Given the description of an element on the screen output the (x, y) to click on. 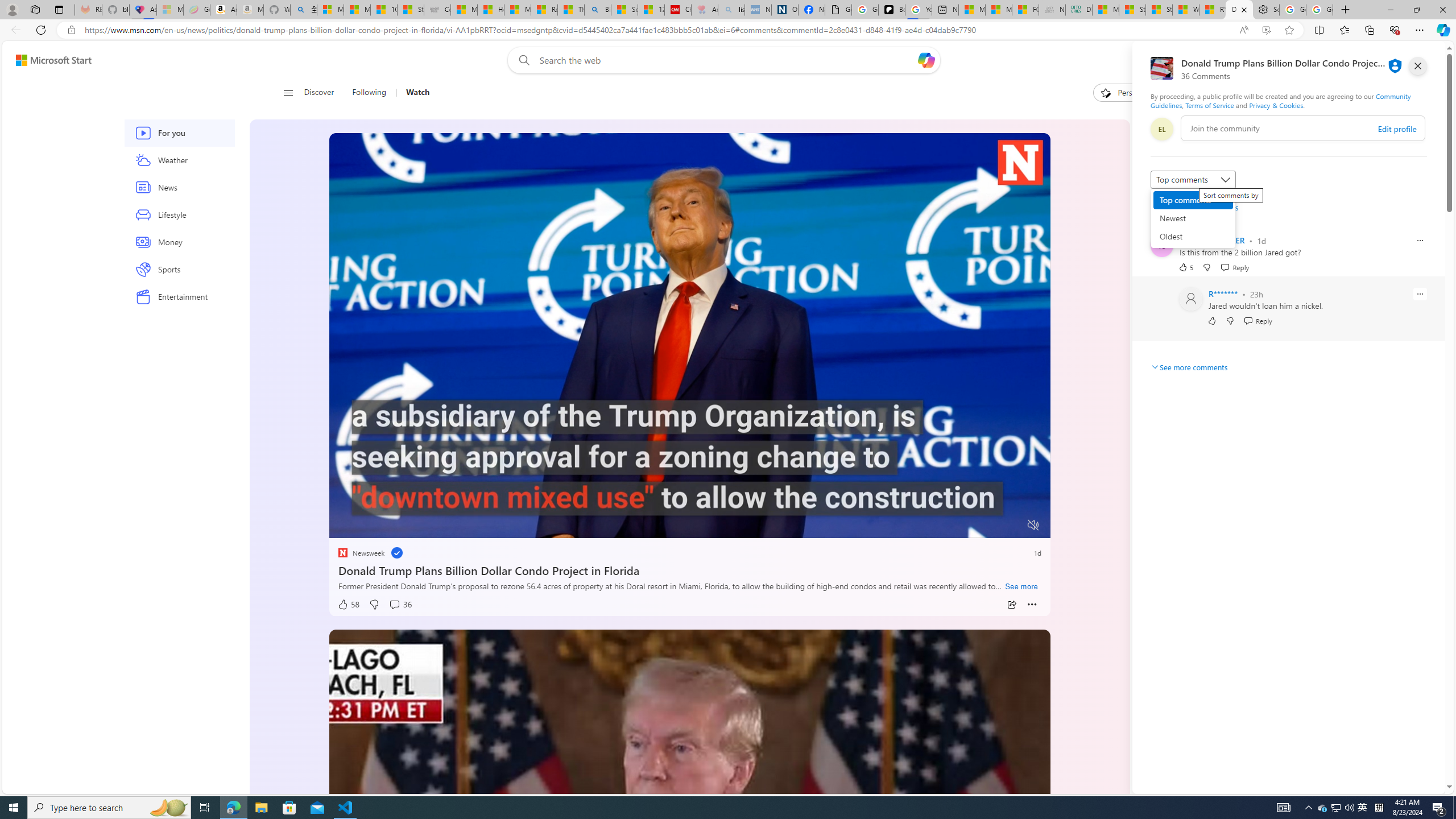
Quality Settings (964, 525)
The Associated Press (1165, 316)
See previous comments (1194, 206)
NCL Adult Asthma Inhaler Choice Guideline - Sleeping (757, 9)
Oldest (1193, 236)
Profile Picture (1190, 298)
close (1417, 65)
